Given the description of an element on the screen output the (x, y) to click on. 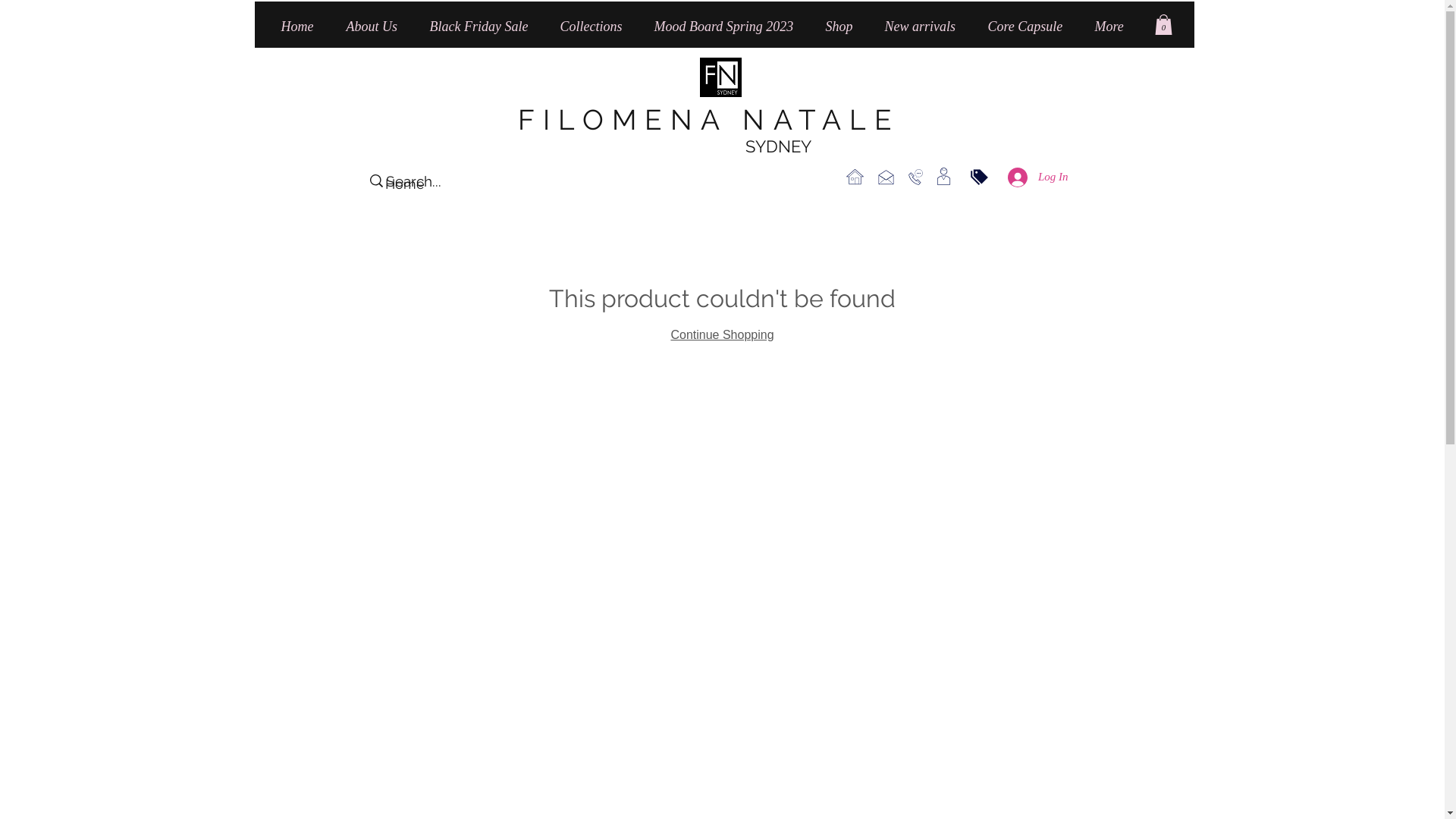
Collections Element type: text (596, 26)
Continue Shopping Element type: text (721, 334)
About Us Element type: text (376, 26)
Buy Now on Sale! Element type: hover (979, 176)
Mood Board Spring 2023 Element type: text (728, 26)
Black Friday Sale Element type: text (483, 26)
0 Element type: text (1162, 24)
email us Element type: hover (885, 176)
Home Element type: text (302, 26)
Log In Element type: text (1038, 177)
back to home Page Element type: hover (854, 176)
Shop Element type: text (843, 26)
Core Capsule Element type: text (1029, 26)
Phone us Element type: hover (915, 176)
New arrivals Element type: text (924, 26)
Home Element type: text (404, 183)
Shop the Collections Element type: hover (942, 176)
